Given the description of an element on the screen output the (x, y) to click on. 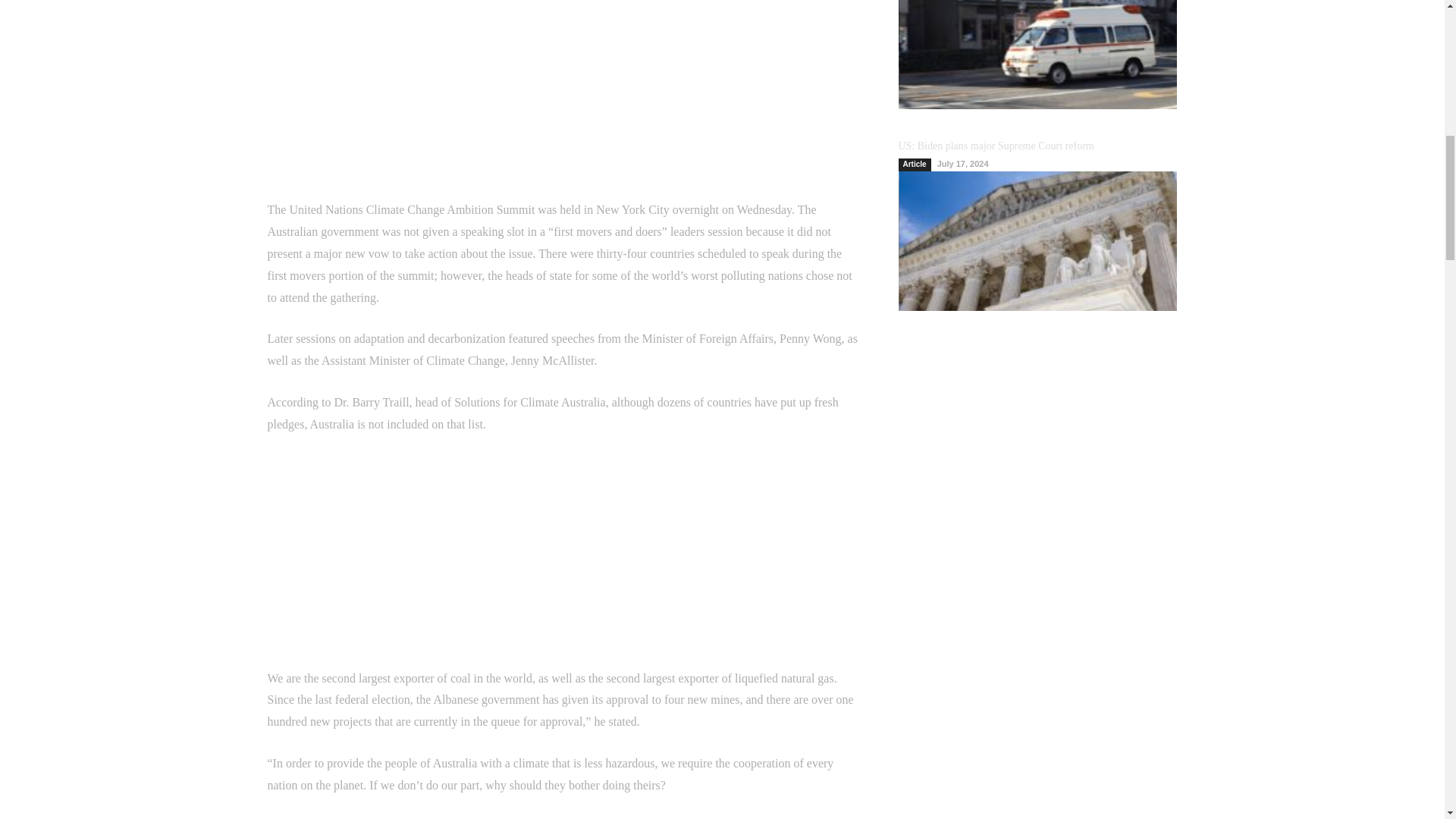
US: Biden plans major Supreme Court reform (995, 145)
US: Biden plans major Supreme Court reform (1037, 241)
Advertisement (563, 99)
Advertisement (563, 561)
